Given the description of an element on the screen output the (x, y) to click on. 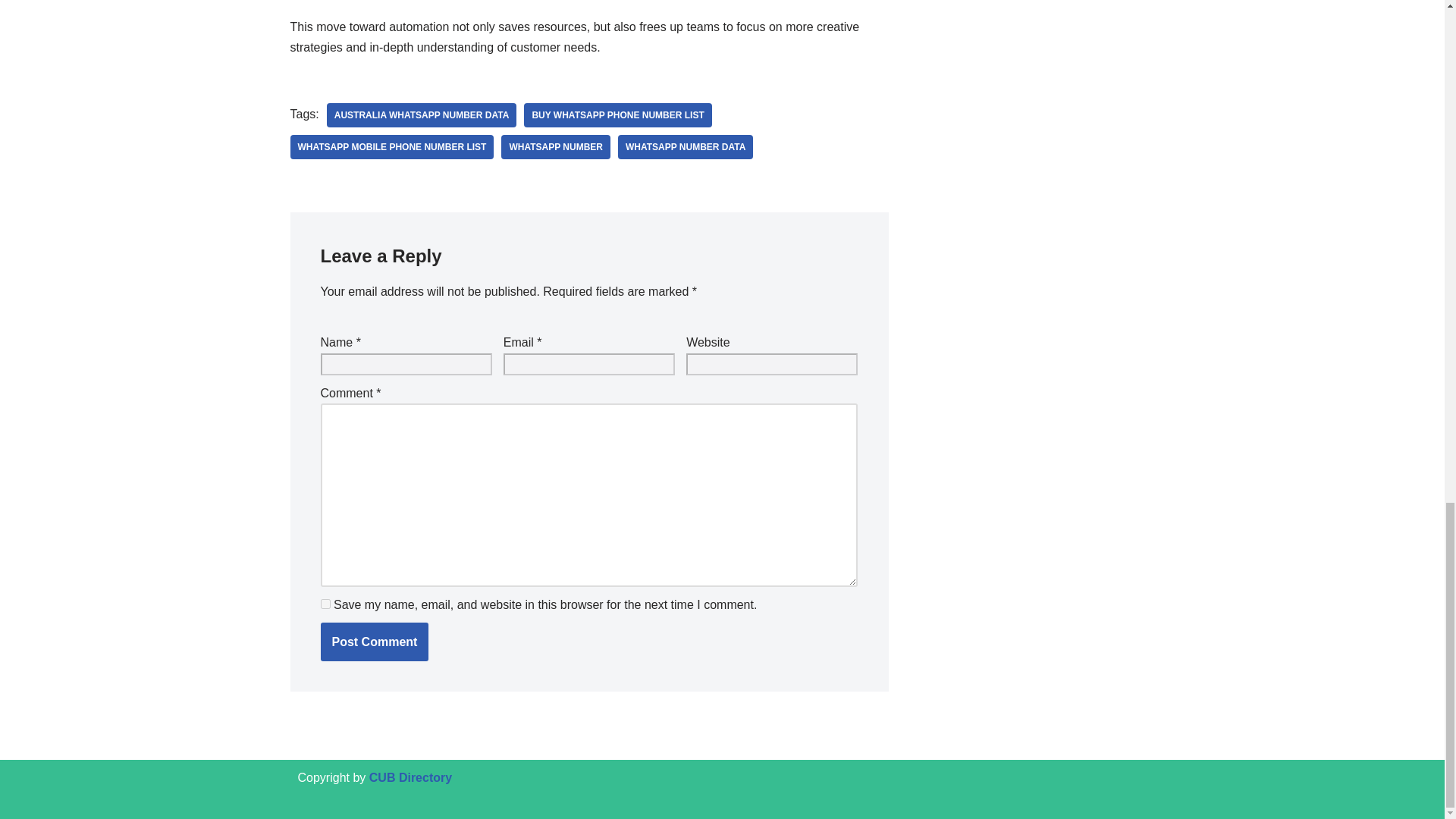
Buy WhatsApp phone number list (617, 115)
WhatsApp mobile phone number list (391, 146)
Post Comment (374, 641)
Australia WhatsApp Number Data (421, 115)
WHATSAPP MOBILE PHONE NUMBER LIST (391, 146)
WHATSAPP NUMBER (555, 146)
CUB Directory (410, 777)
AUSTRALIA WHATSAPP NUMBER DATA (421, 115)
Post Comment (374, 641)
WhatsApp Number Data (684, 146)
WHATSAPP NUMBER DATA (684, 146)
BUY WHATSAPP PHONE NUMBER LIST (617, 115)
WhatsApp Number (555, 146)
yes (325, 603)
